Given the description of an element on the screen output the (x, y) to click on. 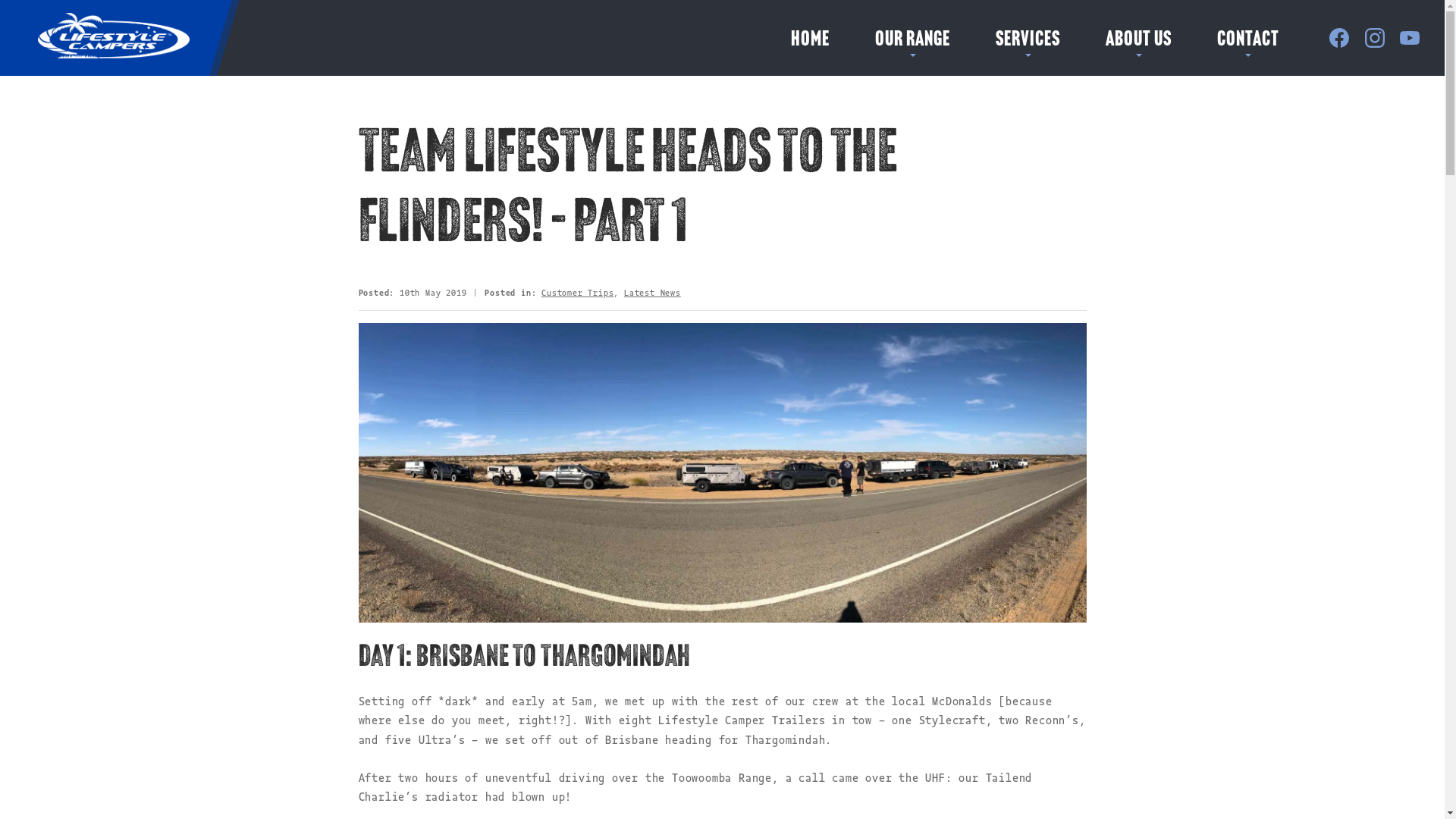
Latest News Element type: text (652, 292)
OUR RANGE Element type: text (912, 40)
HOME Element type: text (810, 40)
Customer Trips Element type: text (577, 292)
CONTACT Element type: text (1248, 40)
ABOUT US Element type: text (1138, 40)
SERVICES Element type: text (1027, 40)
